Given the description of an element on the screen output the (x, y) to click on. 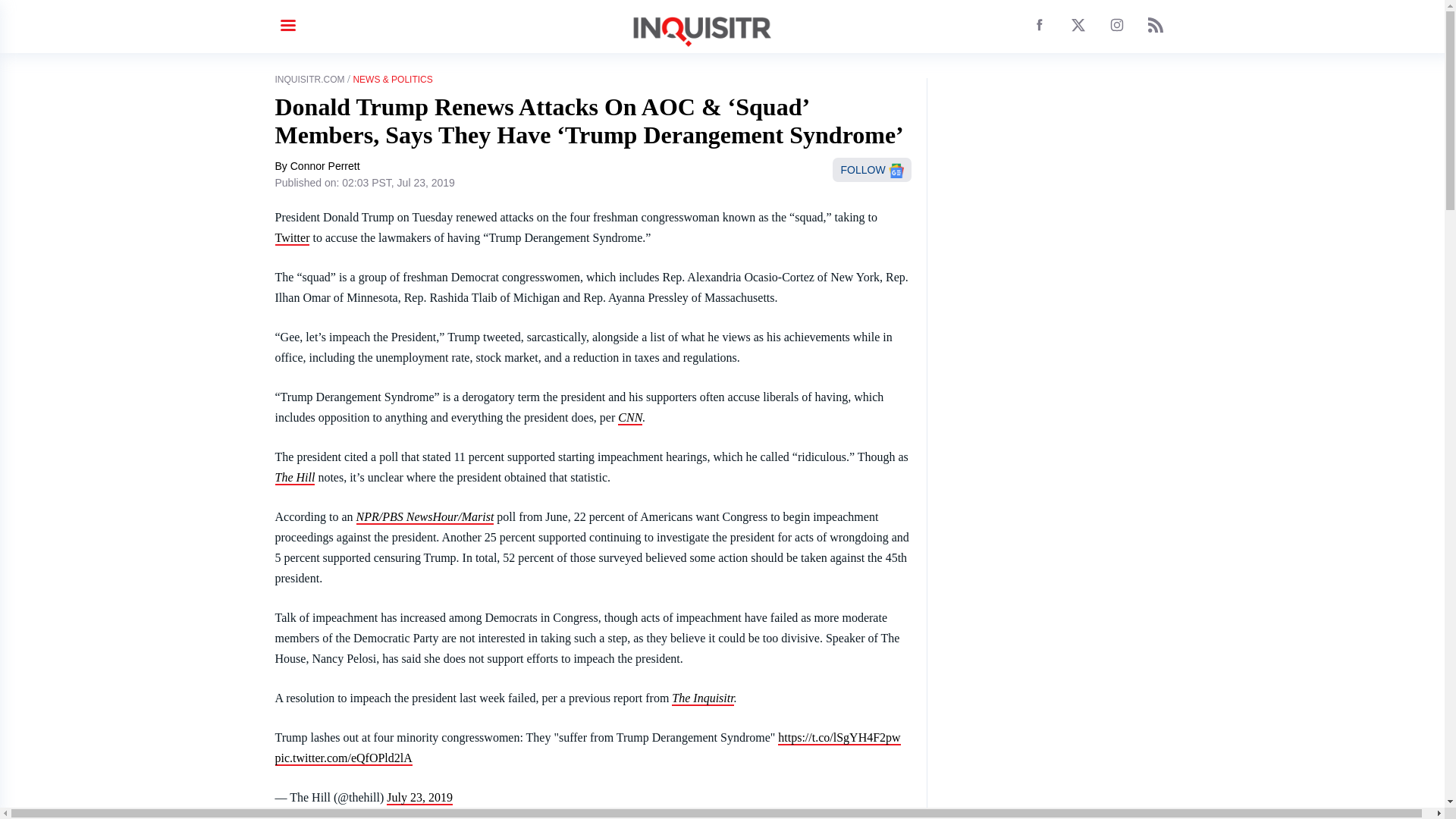
INQUISITR.COM (309, 79)
